Given the description of an element on the screen output the (x, y) to click on. 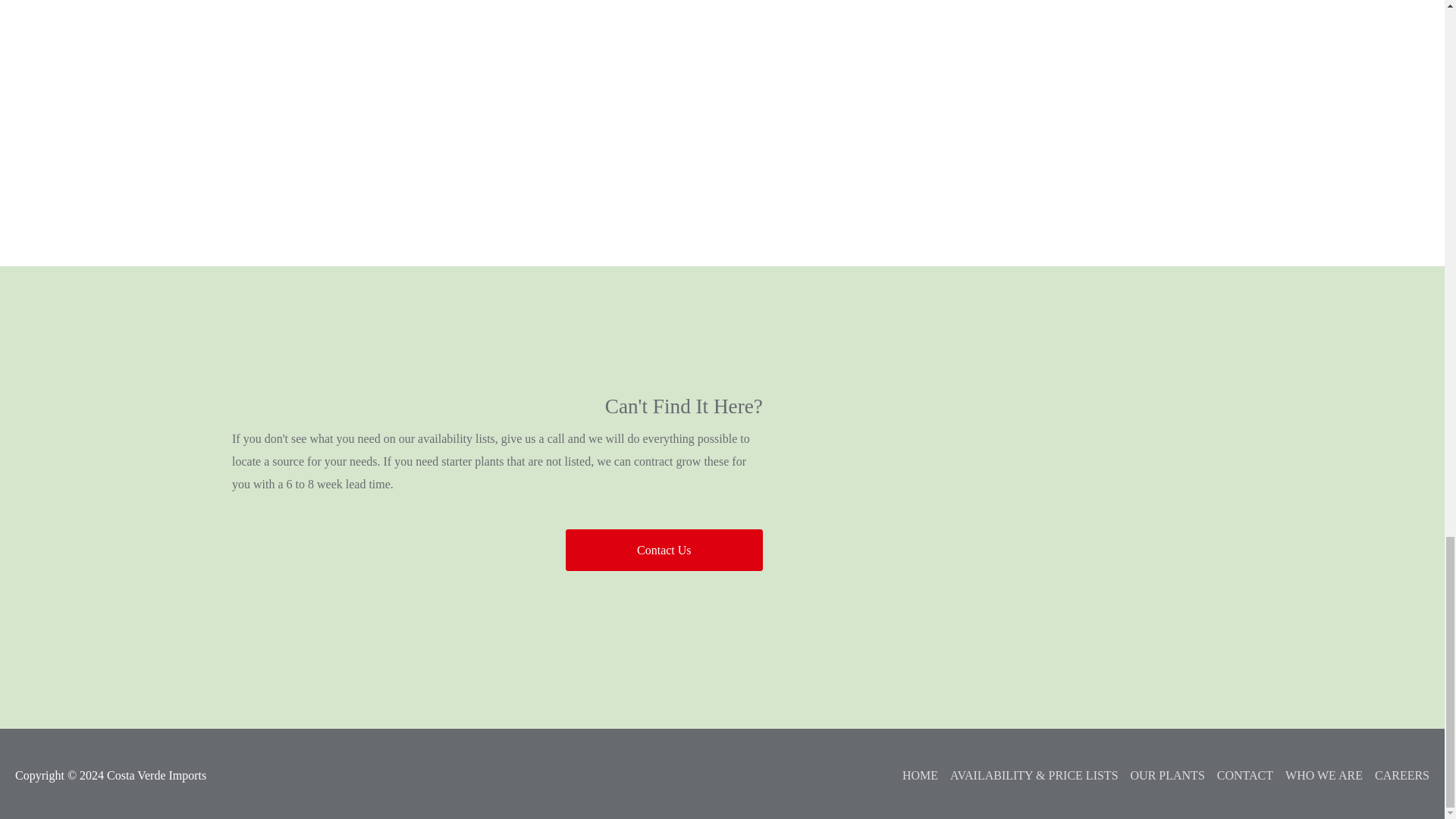
HOME (913, 775)
CONTACT (1238, 775)
CAREERS (1395, 775)
Contact Us (664, 549)
WHO WE ARE (1317, 775)
OUR PLANTS (1161, 775)
